Given the description of an element on the screen output the (x, y) to click on. 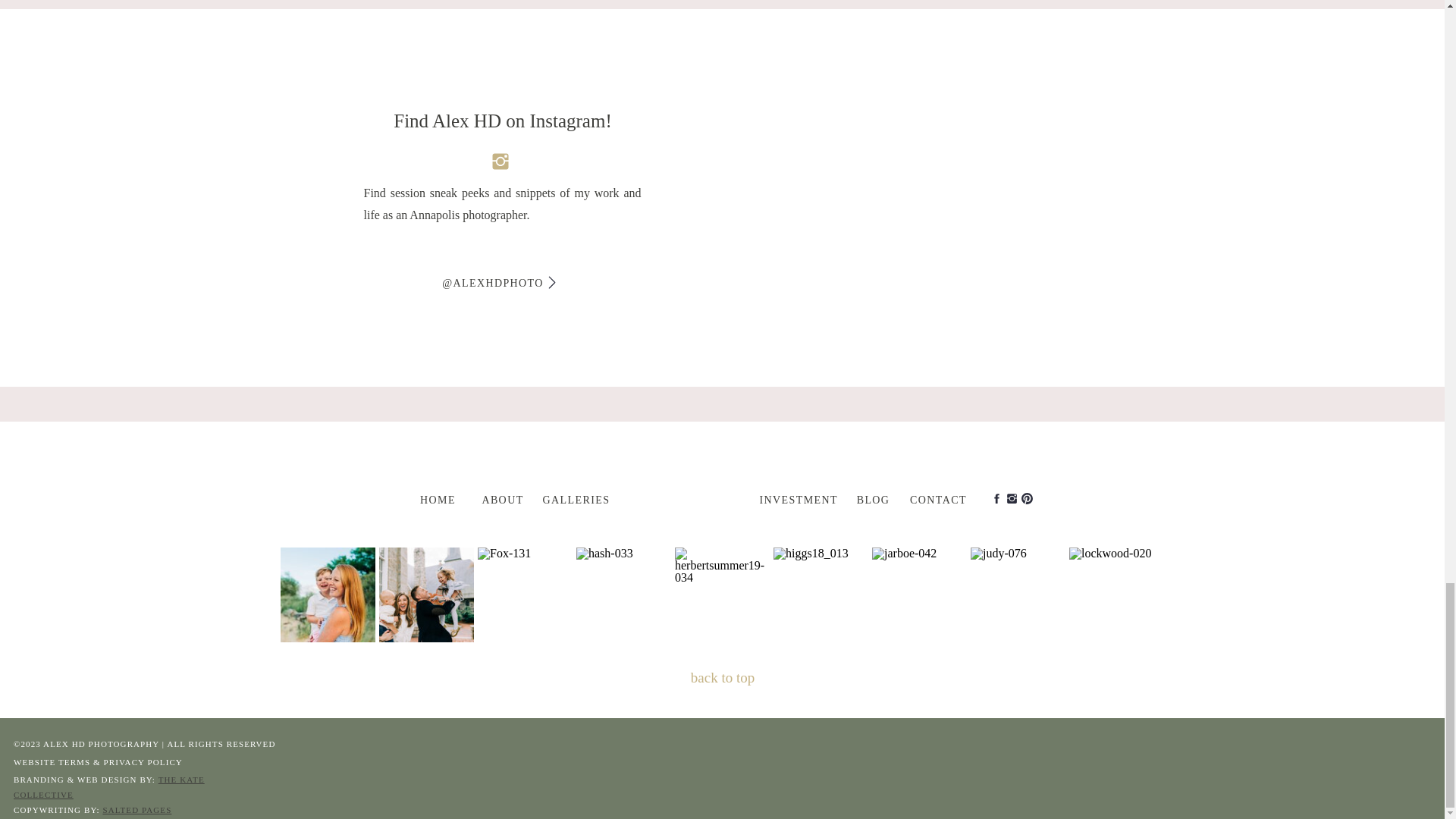
Fox-131 (524, 594)
BLOG (873, 497)
herbertsummer19-034 (722, 594)
INVESTMENT (799, 497)
hash-033 (623, 594)
lockwood-020 (1115, 594)
jarboe-042 (919, 594)
GALLERIES (575, 497)
judy-076 (1018, 594)
back to top (723, 679)
ABOUT (502, 497)
THE KATE COLLECTIVE (109, 786)
Cress19-079 (426, 594)
HOME (438, 497)
SALTED PAGES (136, 809)
